Given the description of an element on the screen output the (x, y) to click on. 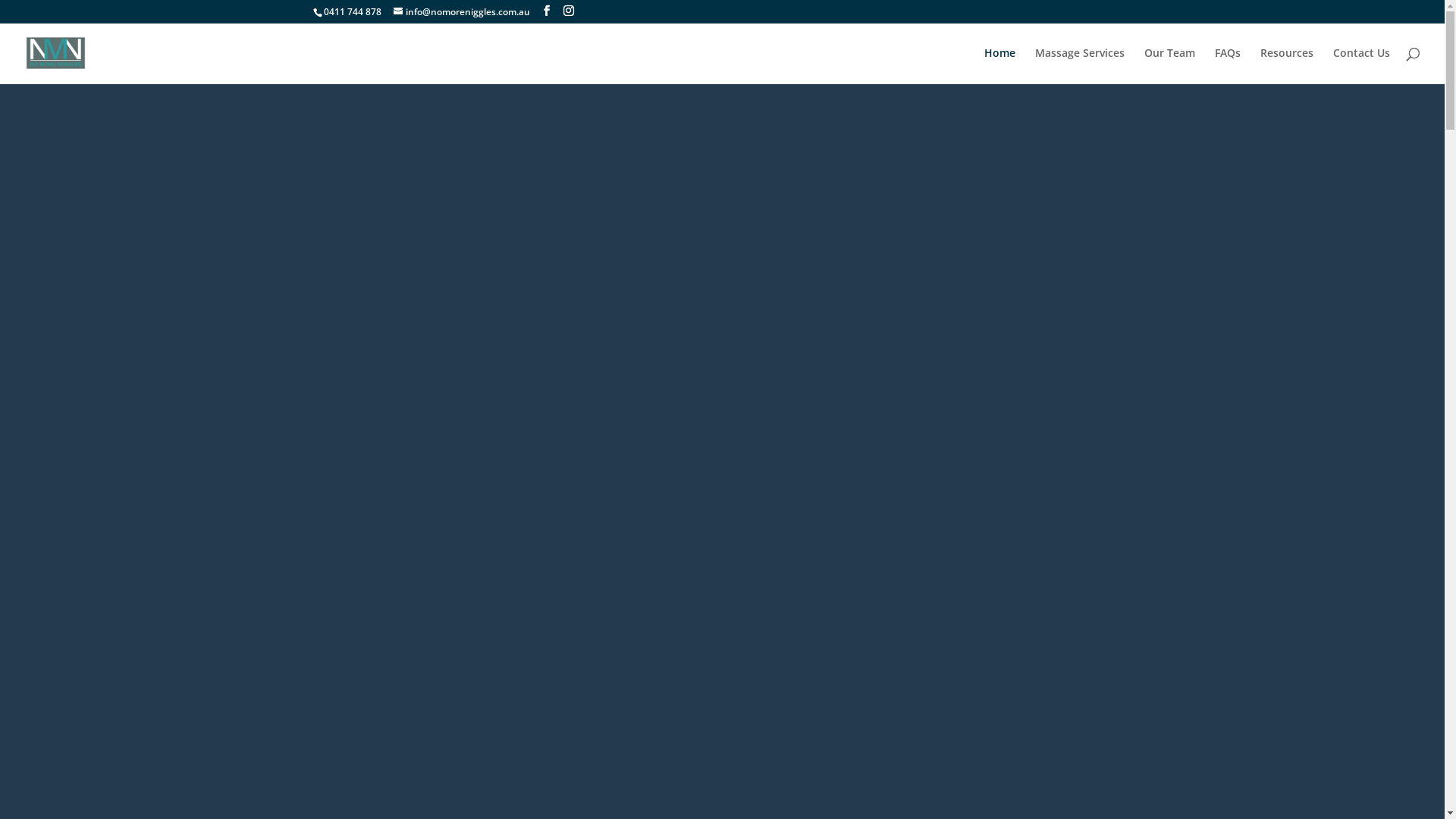
Home Element type: text (999, 65)
Contact Us Element type: text (1361, 65)
Massage Services Element type: text (1079, 65)
Resources Element type: text (1286, 65)
info@nomoreniggles.com.au Element type: text (460, 11)
Our Team Element type: text (1169, 65)
FAQs Element type: text (1227, 65)
